Given the description of an element on the screen output the (x, y) to click on. 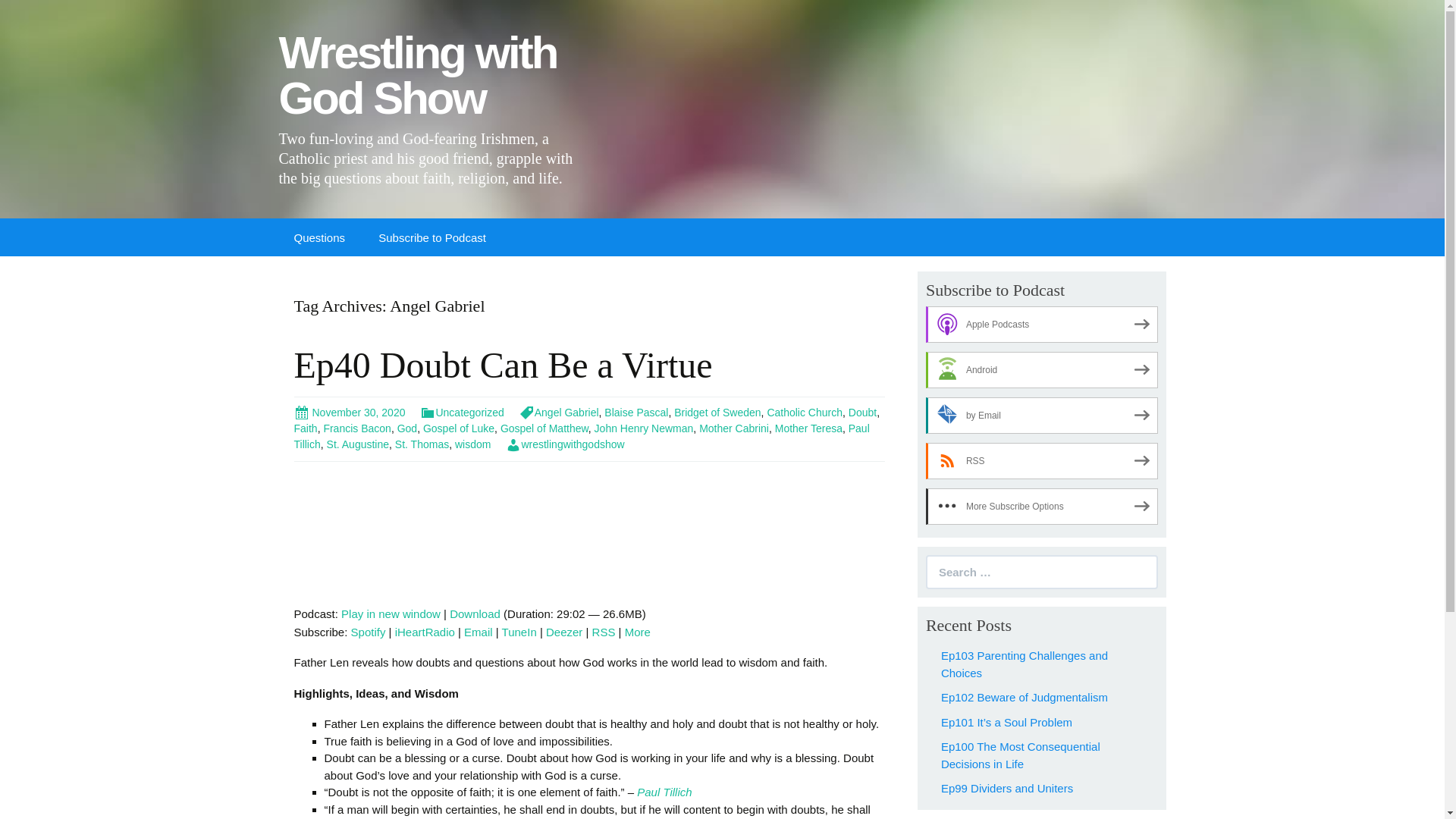
Bridget of Sweden (717, 412)
Spotify (367, 631)
Mother Teresa (808, 428)
Mother Cabrini (733, 428)
Subscribe by Email (478, 631)
Subscribe by Email (1041, 415)
Download (474, 613)
View all posts by wrestlingwithgodshow (564, 444)
Subscribe on Spotify (367, 631)
